Given the description of an element on the screen output the (x, y) to click on. 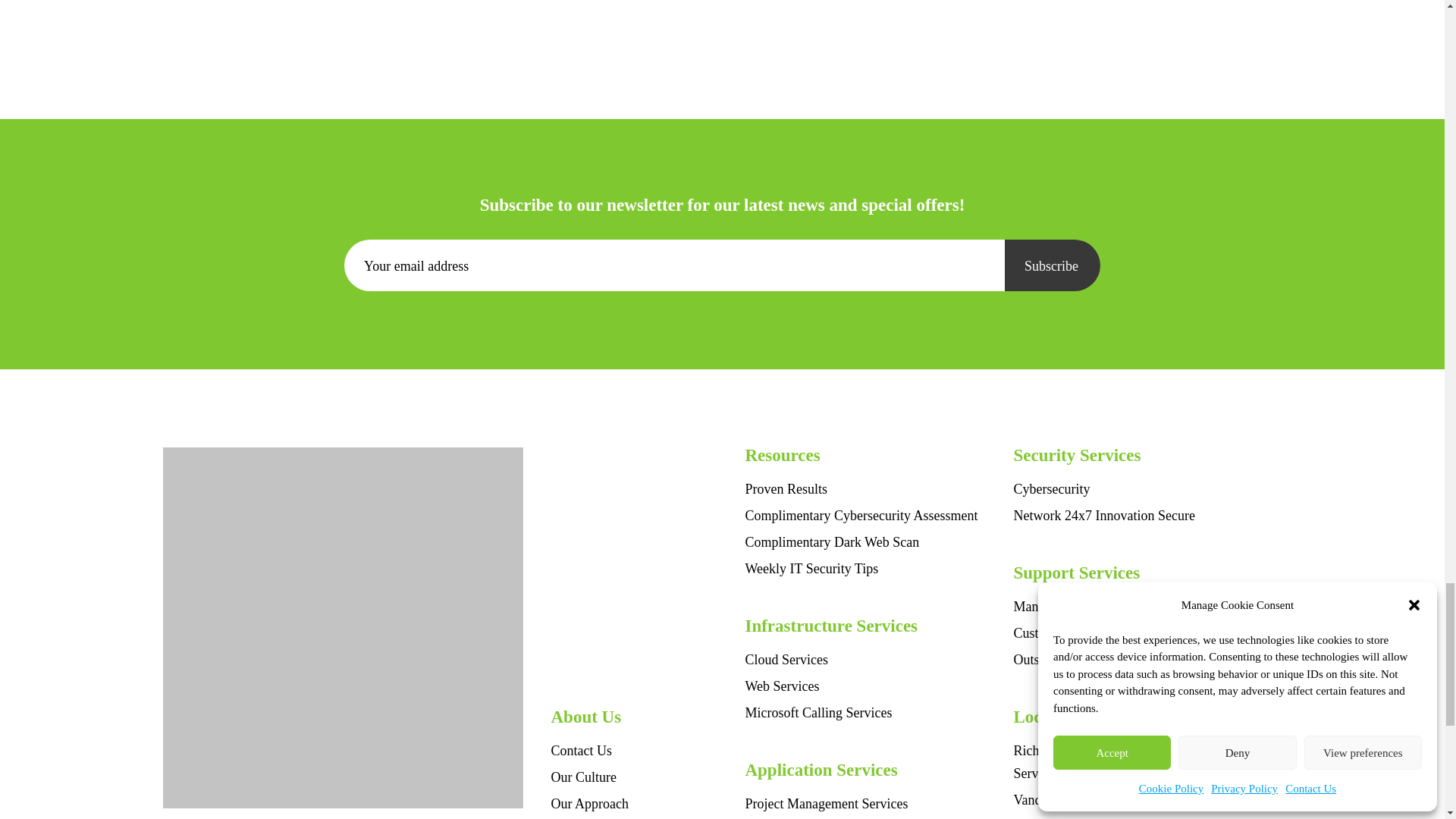
Subscribe (1052, 265)
